Given the description of an element on the screen output the (x, y) to click on. 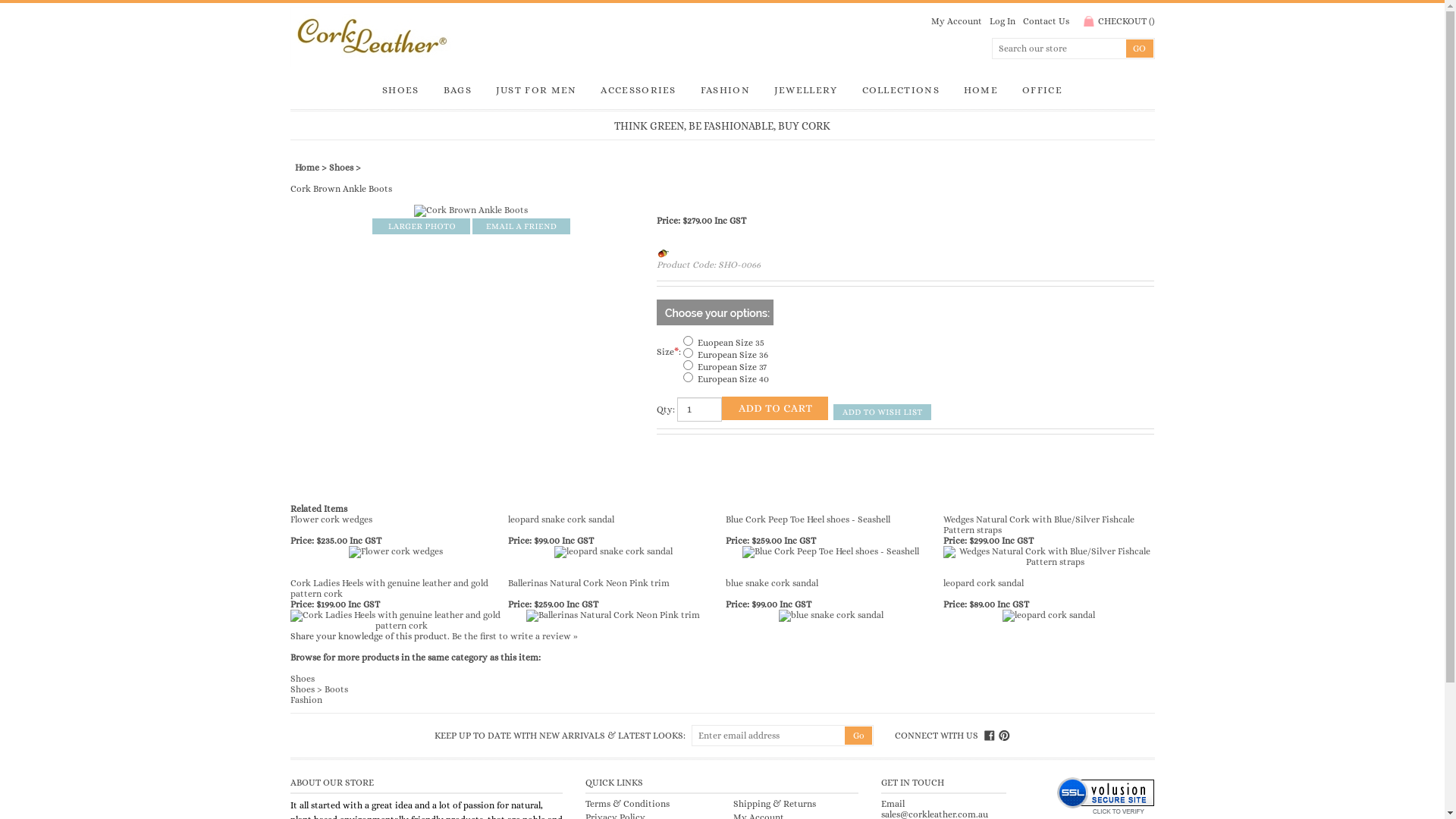
JUST FOR MEN Element type: text (536, 90)
leopard snake cork sandal Element type: text (561, 519)
GO Element type: text (1138, 48)
Cork Brown Ankle Boots Element type: hover (470, 209)
leopard cork sandal Element type: hover (1048, 615)
171 Element type: text (688, 377)
Ballerinas Natural Cork Neon Pink trim Element type: hover (612, 615)
Shoes Element type: text (341, 167)
leopard snake cork sandal Element type: hover (613, 552)
Instagram Element type: text (1004, 735)
Size Element type: hover (688, 340)
My Account Element type: text (956, 20)
blue snake cork sandal Element type: hover (830, 614)
Flower cork wedges Element type: text (330, 519)
FASHION Element type: text (725, 90)
Shoes Element type: text (301, 678)
Flower cork wedges Element type: hover (395, 552)
Quantity Element type: hover (699, 409)
(Opens new window) View Free Shipping Details Element type: hover (662, 252)
179 Element type: text (688, 352)
Wedges Natural Cork with Blue/Silver Fishcale Pattern straps Element type: hover (1048, 554)
Size Element type: hover (688, 377)
blue snake cork sandal Element type: text (771, 582)
leopard snake cork sandal Element type: hover (613, 551)
Size Element type: hover (688, 365)
Blue Cork Peep Toe Heel shoes - Seashell Element type: hover (830, 551)
blue snake cork sandal Element type: hover (830, 615)
Wedges Natural Cork with Blue/Silver Fishcale Pattern straps Element type: text (1038, 524)
Flower cork wedges Element type: hover (395, 551)
Terms & Conditions Element type: text (627, 803)
Home Element type: text (306, 167)
Shoes Element type: text (301, 689)
Cork Brown Ankle Boots Element type: hover (420, 224)
Shipping Element type: text (751, 803)
OFFICE Element type: text (1042, 90)
Cork Ladies Heels with genuine leather and gold pattern cork Element type: hover (394, 618)
Cork Ladies Heels with genuine leather and gold pattern cork Element type: hover (394, 619)
BAGS Element type: text (457, 90)
SHOES Element type: text (400, 90)
Contact Us Element type: text (1045, 20)
leopard cork sandal Element type: text (983, 582)
COLLECTIONS Element type: text (900, 90)
190 Element type: text (688, 340)
JEWELLERY Element type: text (806, 90)
leopard cork sandal Element type: hover (1048, 614)
Cork Ladies Heels with genuine leather and gold pattern cork Element type: text (388, 588)
Blue Cork Peep Toe Heel shoes - Seashell Element type: text (807, 519)
Ballerinas Natural Cork Neon Pink trim Element type: text (588, 582)
Size Element type: hover (688, 352)
Log In Element type: text (1001, 20)
Fashion Element type: text (305, 699)
Facebook Element type: text (989, 735)
Cork Brown Ankle Boots Element type: hover (470, 210)
Boots Element type: text (336, 689)
Ballerinas Natural Cork Neon Pink trim Element type: hover (612, 614)
Cork Leather Element type: text (505, 37)
ACCESSORIES Element type: text (637, 90)
Go Element type: text (858, 735)
Wedges Natural Cork with Blue/Silver Fishcale Pattern straps Element type: hover (1048, 556)
160 Element type: text (688, 365)
Returns Element type: text (799, 803)
THINK GREEN, BE FASHIONABLE, BUY CORK Element type: text (721, 124)
Blue Cork Peep Toe Heel shoes - Seashell Element type: hover (830, 552)
HOME Element type: text (980, 90)
